Given the description of an element on the screen output the (x, y) to click on. 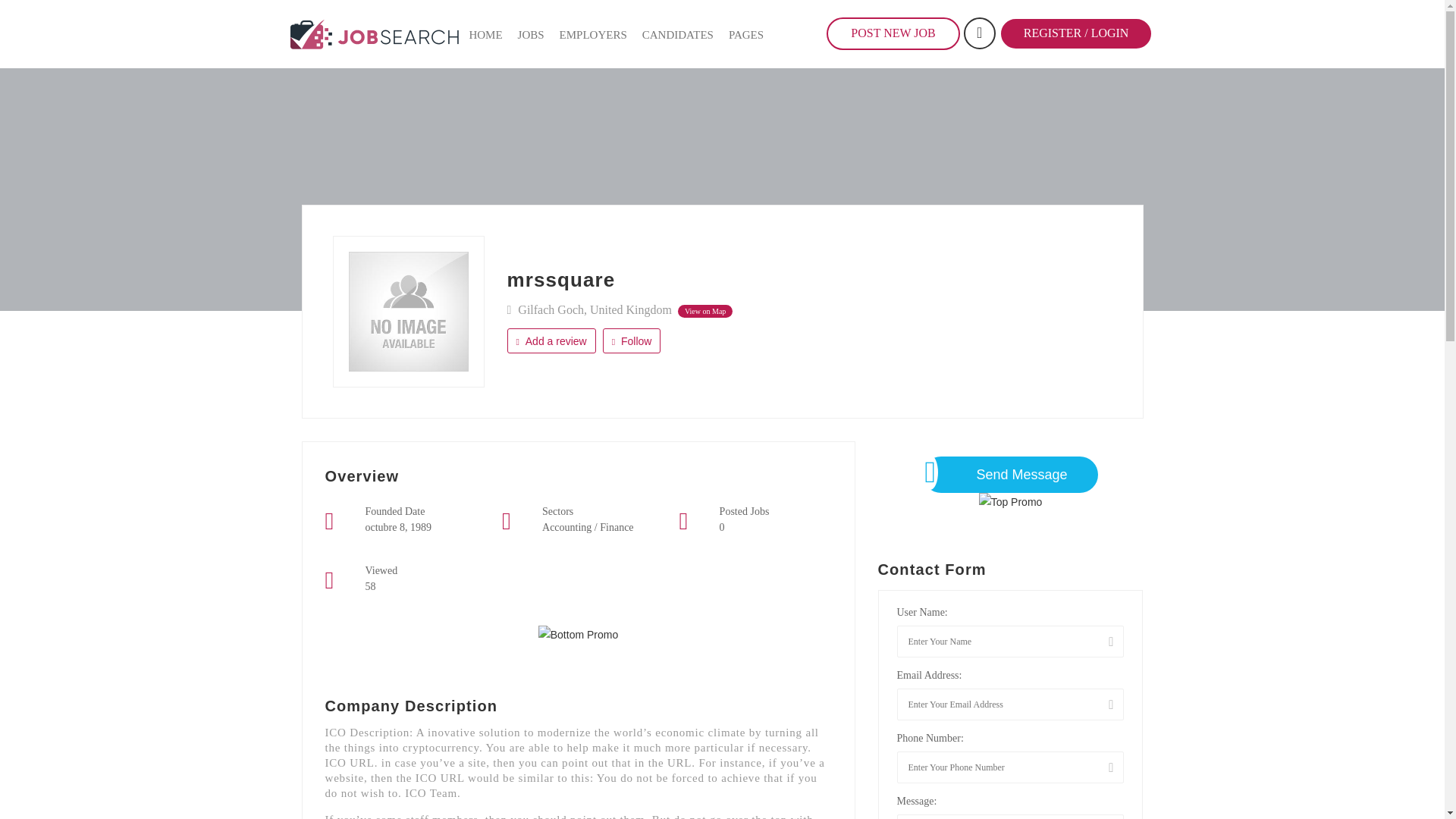
DarEmpleo (373, 34)
